Given the description of an element on the screen output the (x, y) to click on. 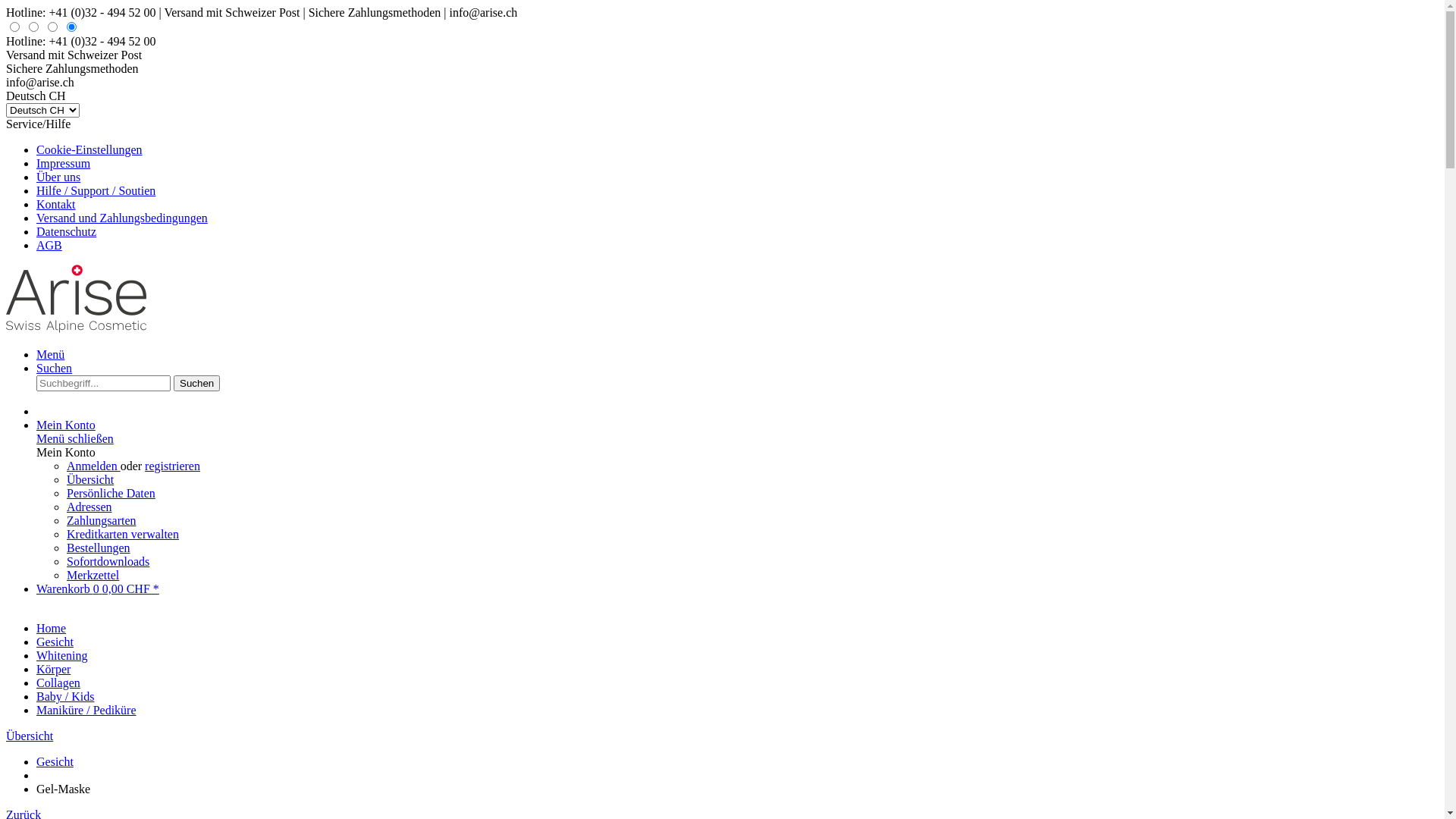
Gesicht Element type: text (54, 641)
Mein Konto Element type: text (65, 424)
Home Element type: text (50, 627)
Cookie-Einstellungen Element type: text (89, 149)
Collagen Element type: text (58, 682)
Whitening Element type: text (61, 655)
registrieren Element type: text (172, 465)
Suchen Element type: text (196, 383)
Warenkorb 0 0,00 CHF * Element type: text (97, 588)
Arise Cosmetic Shop - CH - zur Startseite wechseln Element type: hover (76, 328)
Versand und Zahlungsbedingungen Element type: text (121, 217)
Zahlungsarten Element type: text (101, 520)
Kontakt Element type: text (55, 203)
Kreditkarten verwalten Element type: text (122, 533)
Sofortdownloads Element type: text (107, 561)
Baby / Kids Element type: text (65, 696)
Merkzettel Element type: text (92, 574)
Hilfe / Support / Soutien Element type: text (95, 190)
Impressum Element type: text (63, 162)
Datenschutz Element type: text (66, 231)
AGB Element type: text (49, 244)
Bestellungen Element type: text (98, 547)
Gesicht Element type: text (54, 761)
Adressen Element type: text (89, 506)
Suchen Element type: text (54, 367)
Anmelden Element type: text (93, 465)
